Given the description of an element on the screen output the (x, y) to click on. 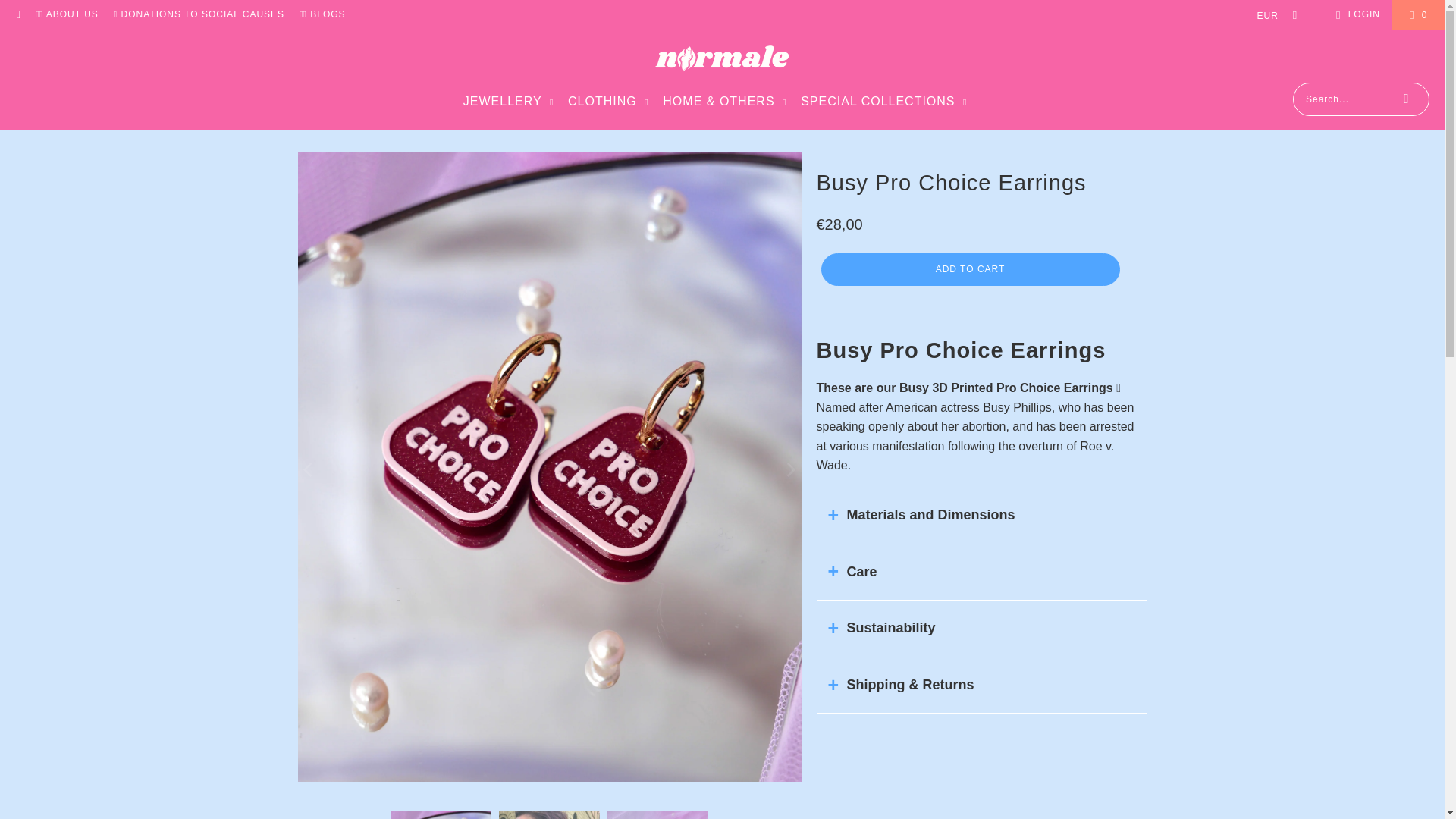
normale (722, 59)
normale on Instagram (17, 14)
My Account  (1355, 14)
